Given the description of an element on the screen output the (x, y) to click on. 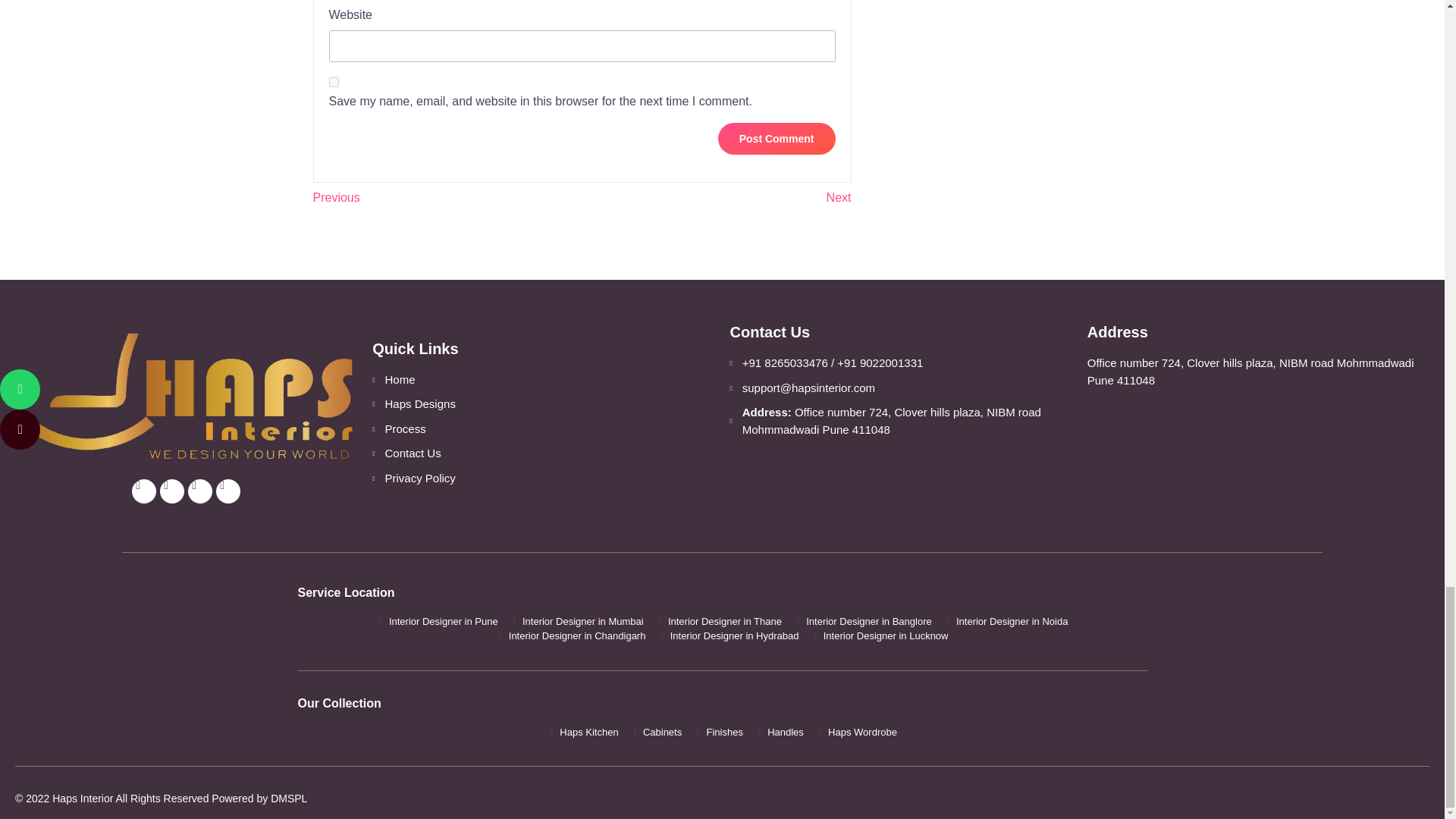
Post Comment (776, 138)
yes (334, 81)
